Given the description of an element on the screen output the (x, y) to click on. 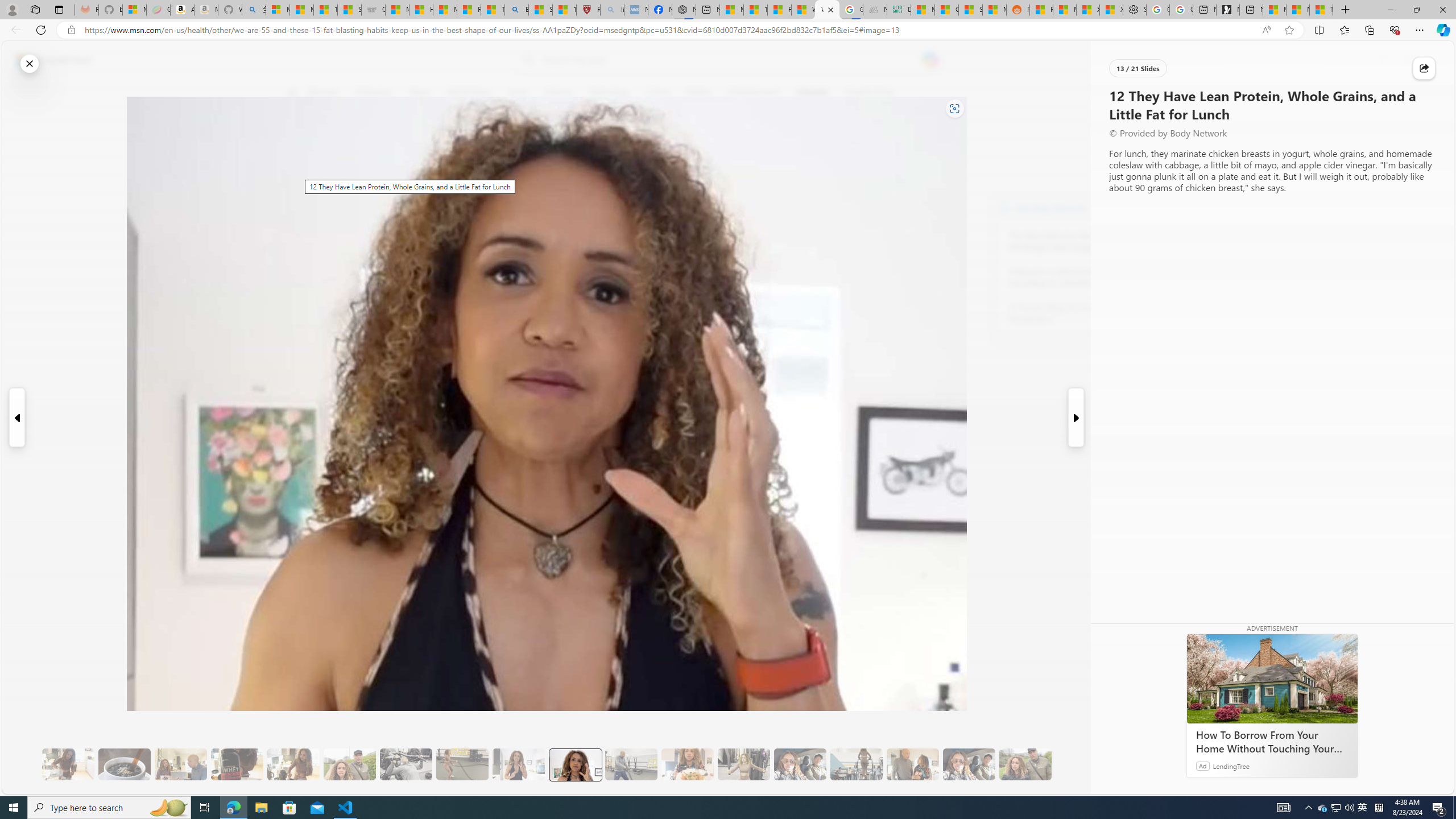
20 Overall, It Will Improve Your Health (1024, 764)
Class: button-glyph (292, 92)
8 Reasons to Drink Kombucha, According to a Nutritionist (1071, 277)
13 Her Husband Does Group Cardio Classs (631, 764)
9 They Do Bench Exercises (406, 764)
